Given the description of an element on the screen output the (x, y) to click on. 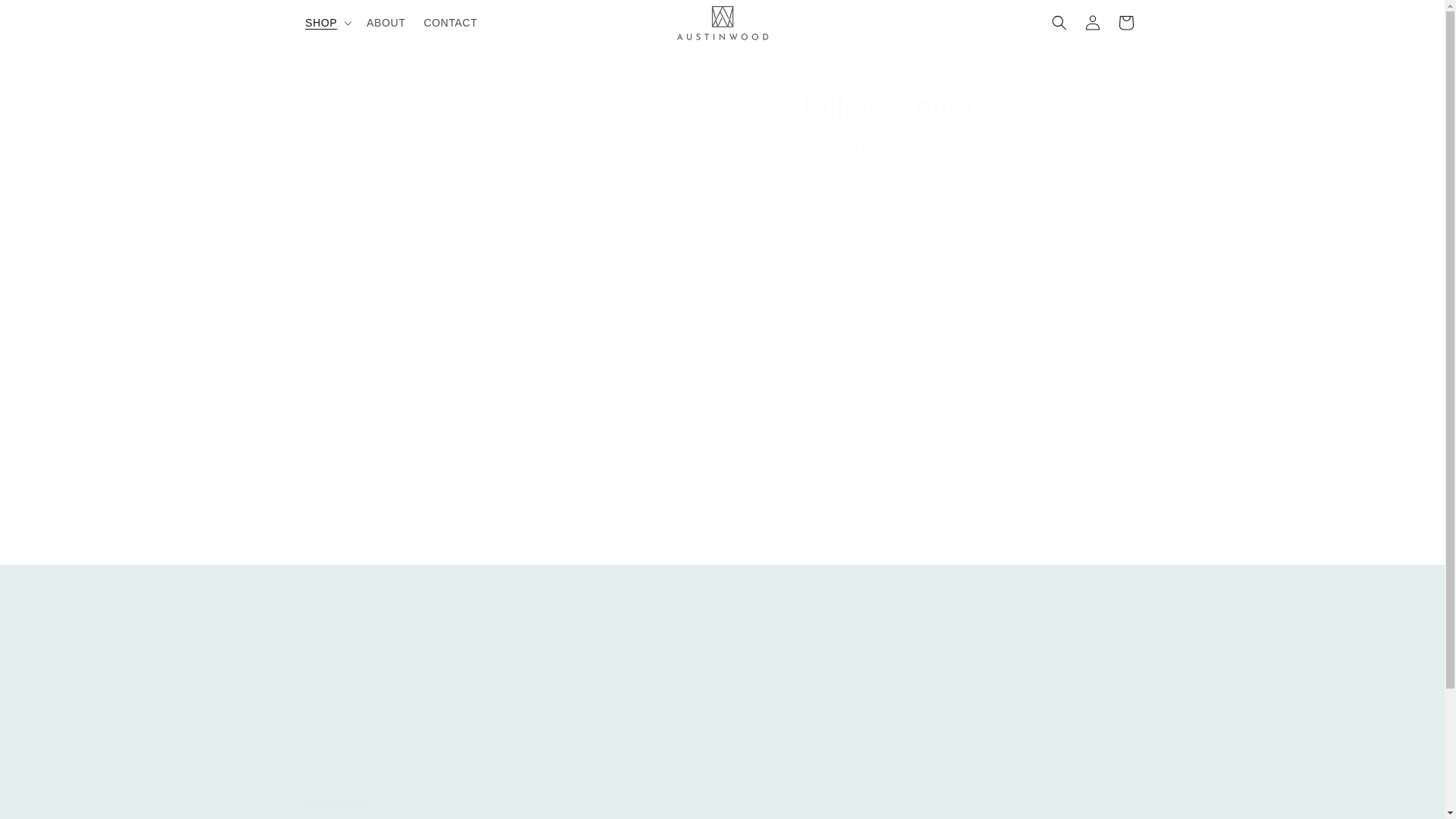
Cart (1124, 22)
Skip to content (45, 17)
Log in (1001, 704)
ABOUT (721, 806)
CONTACT (1091, 22)
1 (386, 22)
